Given the description of an element on the screen output the (x, y) to click on. 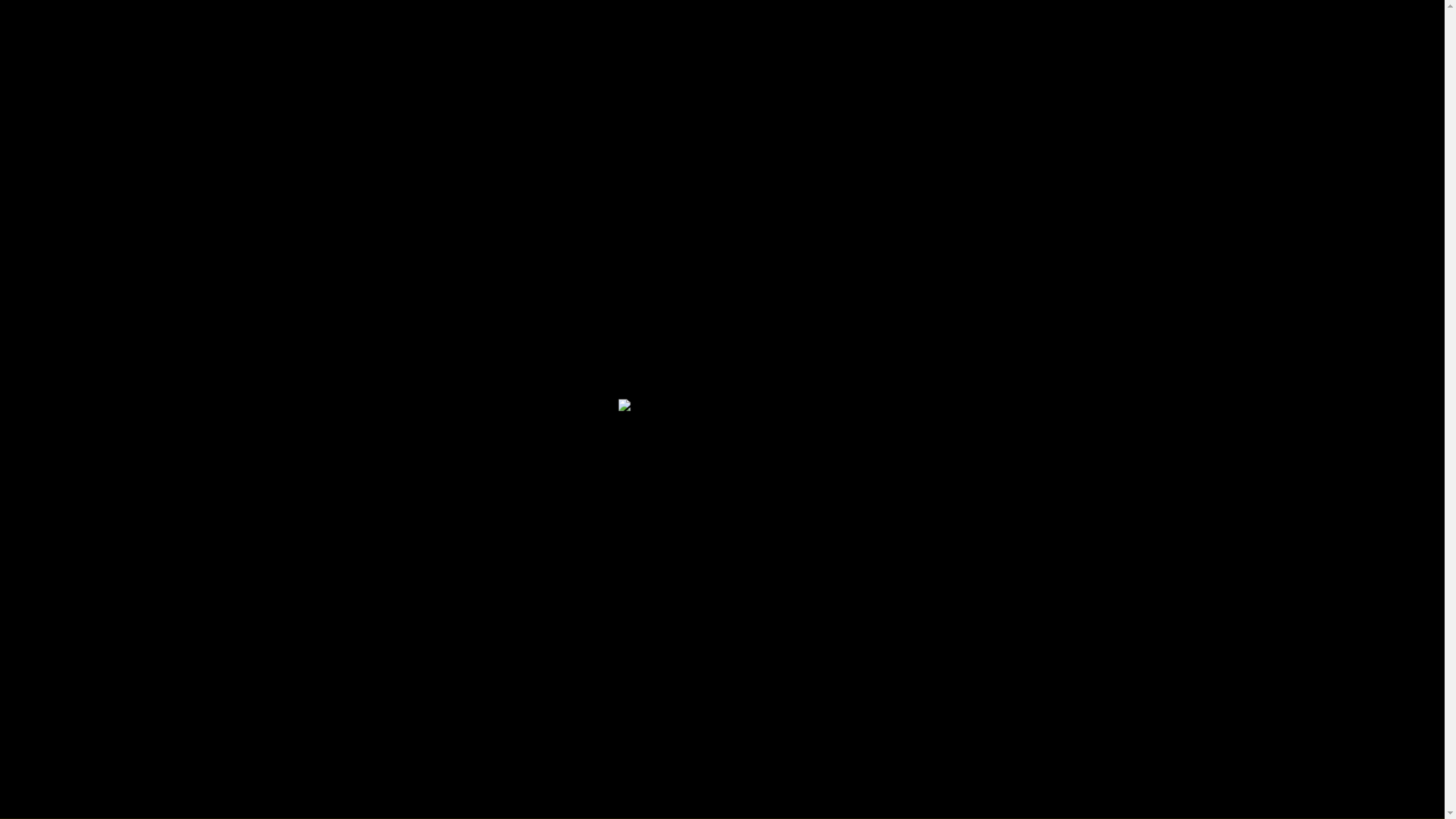
PORTFOLIO Element type: text (985, 21)
ABOUT US Element type: text (1345, 21)
HOME Element type: text (912, 21)
CUSTOM HOMES Element type: text (1244, 21)
INVESTORS Element type: text (1140, 21)
360-capital-ventures-logo-2019 Element type: hover (82, 18)
VIDEOS Element type: text (1062, 21)
